Given the description of an element on the screen output the (x, y) to click on. 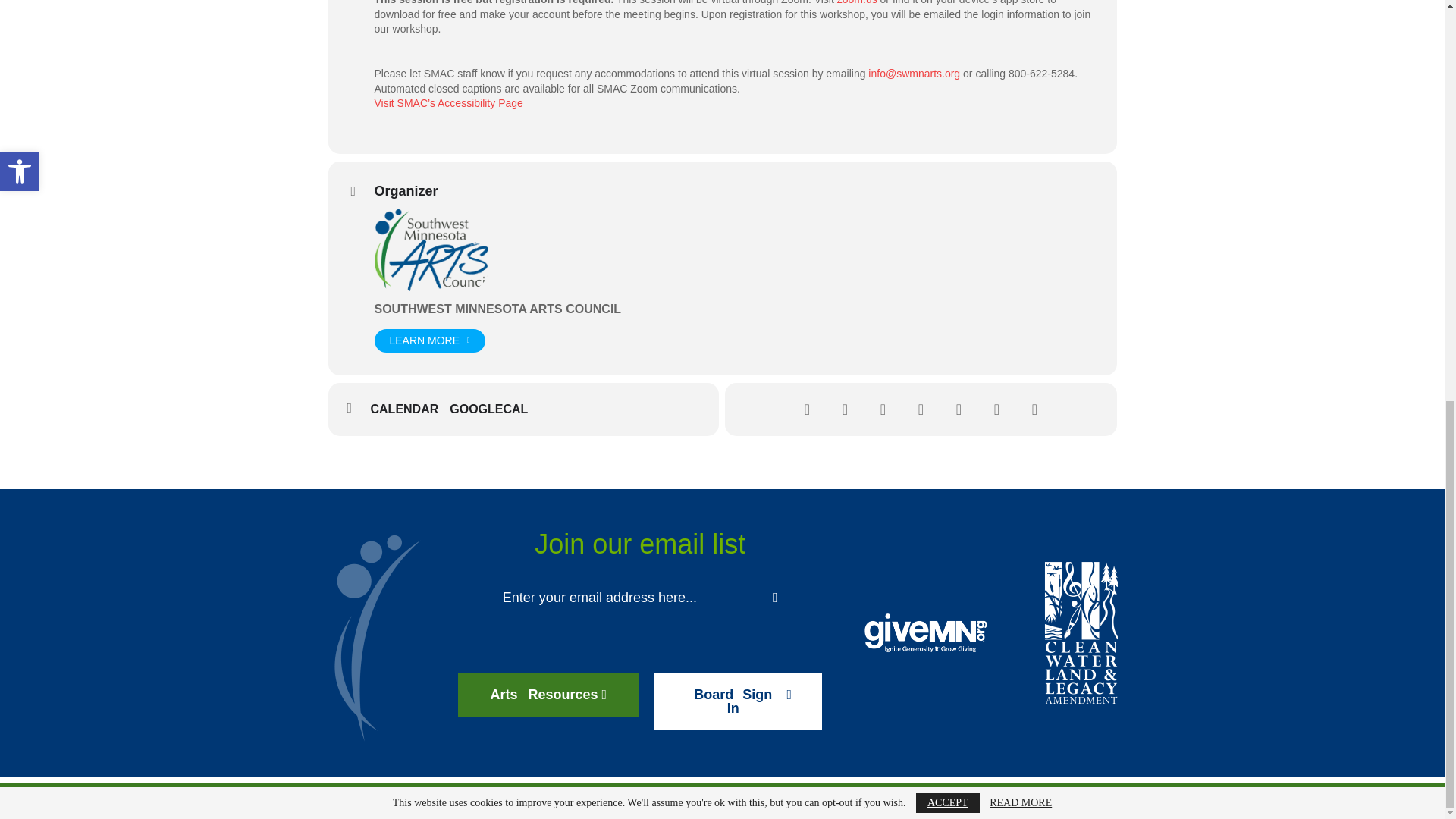
Share on Linkedin (882, 409)
Share on Pinterest (920, 409)
Add to your calendar (409, 409)
Share on Twitter (844, 409)
Copy Link (995, 409)
Add to google calendar (493, 409)
Share on Whatsapp (957, 409)
Share on facebook (806, 409)
